Given the description of an element on the screen output the (x, y) to click on. 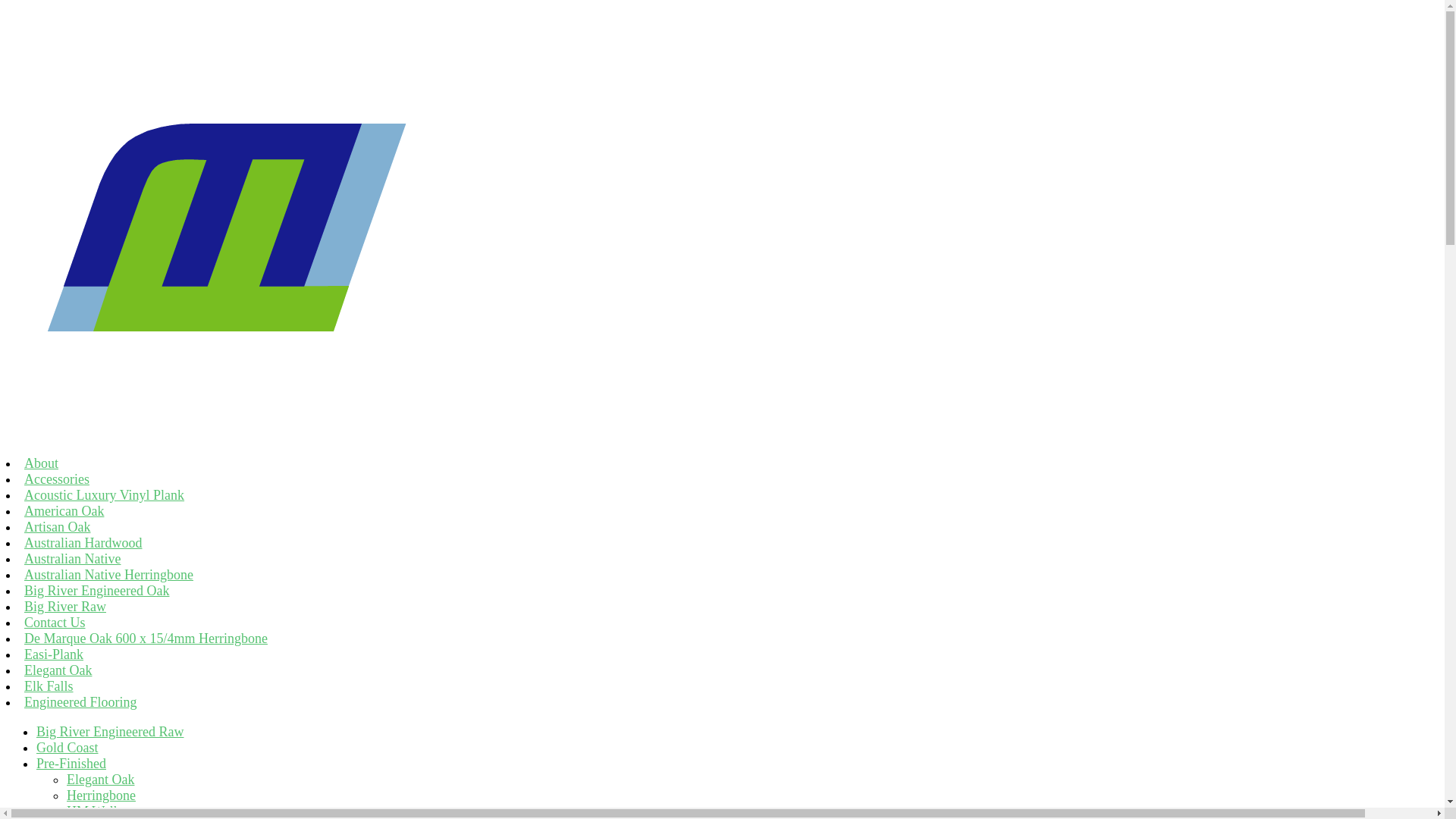
Accessories Element type: text (56, 478)
Elk Falls Element type: text (48, 685)
Skip to content Element type: text (5, 5)
Elegant Oak Element type: text (100, 779)
Acoustic Luxury Vinyl Plank Element type: text (104, 494)
Australian Native Herringbone Element type: text (108, 574)
Australian Hardwood Element type: text (82, 542)
Engineered Flooring Element type: text (80, 701)
De Marque Oak 600 x 15/4mm Herringbone Element type: text (145, 638)
Contact Us Element type: text (54, 622)
Pre-Finished Element type: text (71, 763)
About Element type: text (41, 462)
Gold Coast Element type: text (67, 747)
Elegant Oak Element type: text (57, 669)
Big River Engineered Raw Element type: text (109, 731)
Herringbone Element type: text (100, 795)
Big River Engineered Oak Element type: text (96, 590)
Easi-Plank Element type: text (53, 654)
Artisan Oak Element type: text (57, 526)
American Oak Element type: text (63, 510)
Big River Raw Element type: text (65, 606)
Australian Native Element type: text (72, 558)
